Given the description of an element on the screen output the (x, y) to click on. 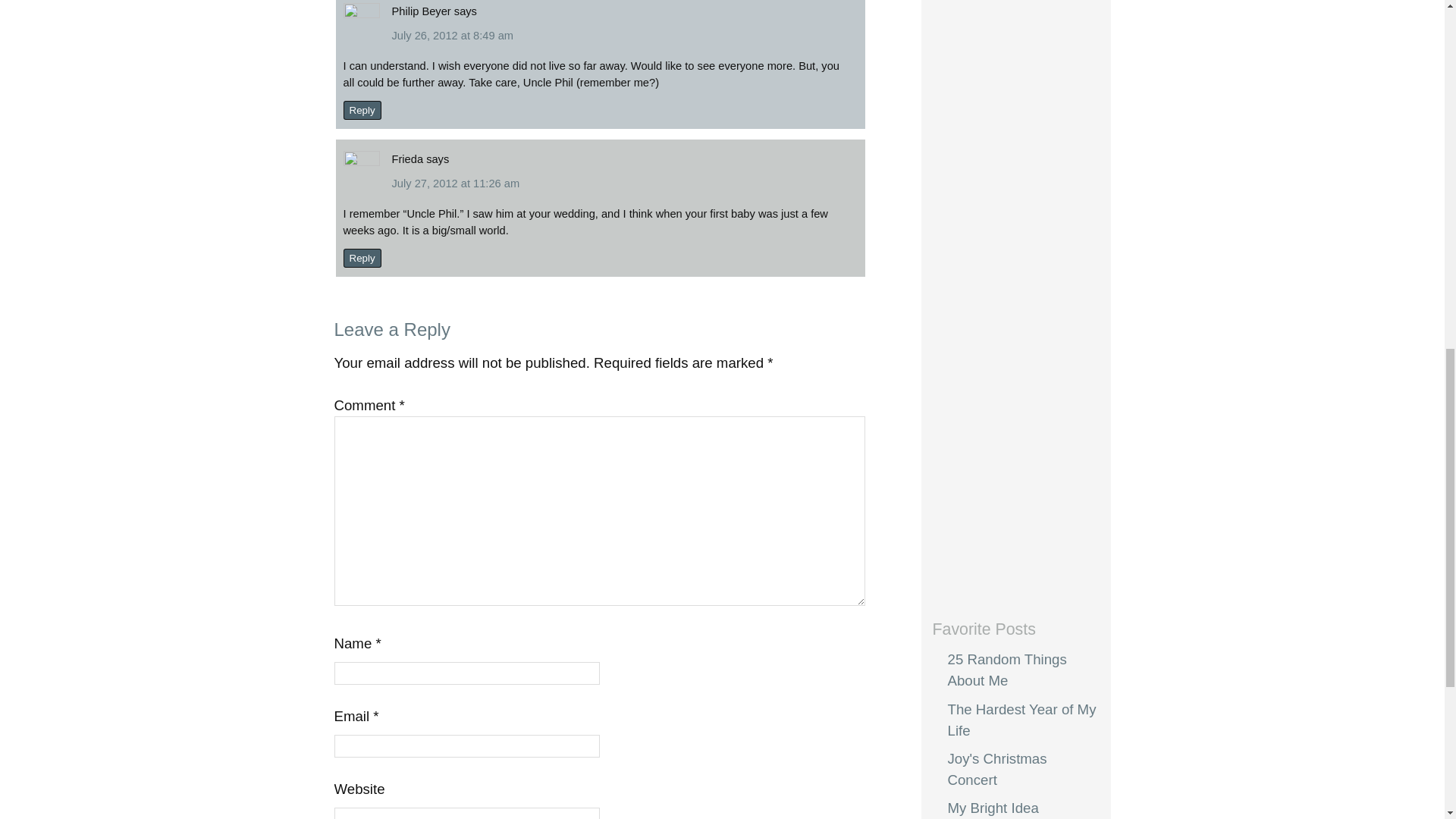
Advertisement (993, 339)
